Given the description of an element on the screen output the (x, y) to click on. 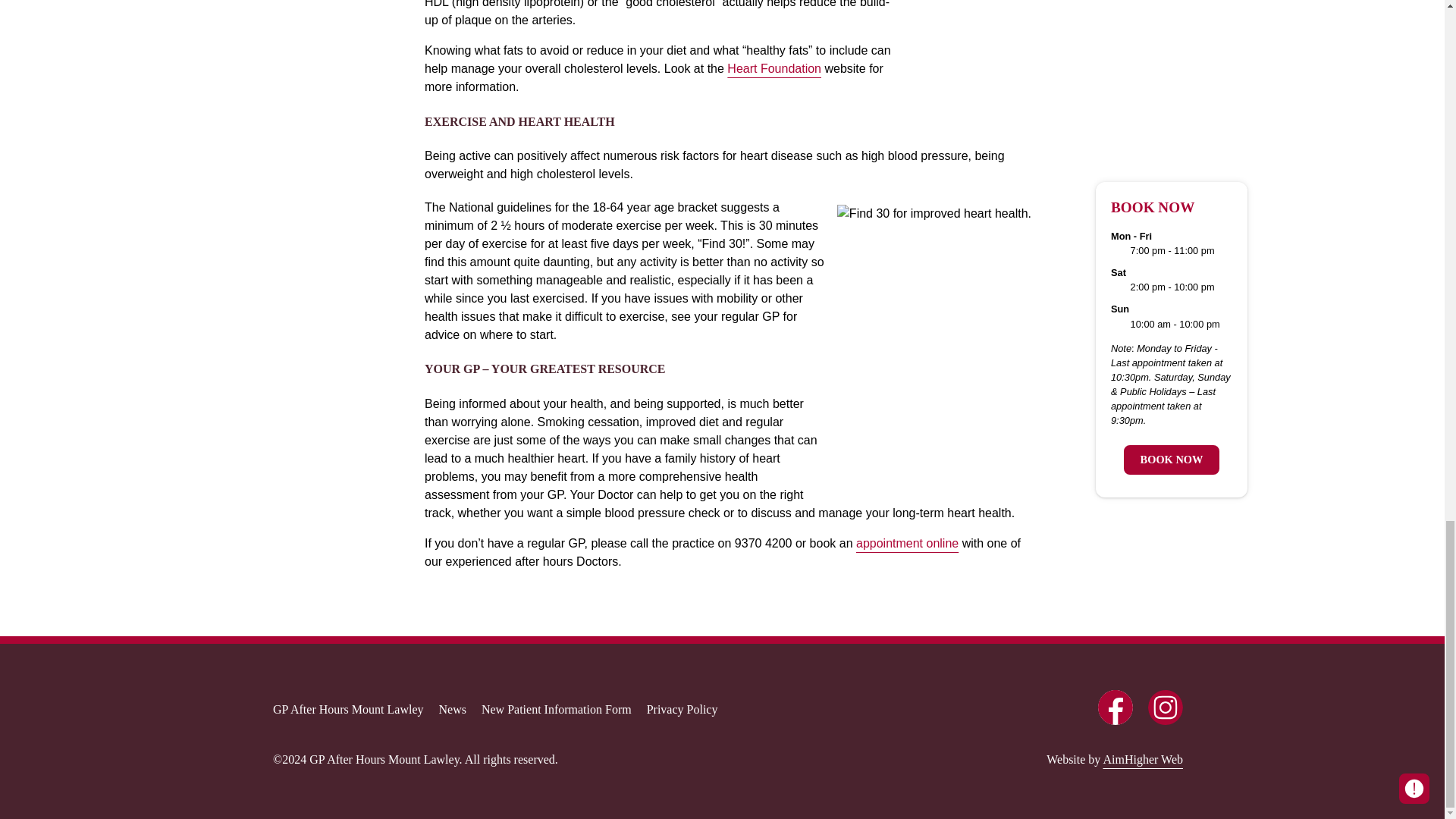
Heart Foundation (773, 68)
News (451, 709)
AimHigher Web (1142, 758)
Privacy Policy (682, 709)
New Patient Information Form (556, 709)
appointment online (907, 542)
GP After Hours Mount Lawley (347, 709)
